Given the description of an element on the screen output the (x, y) to click on. 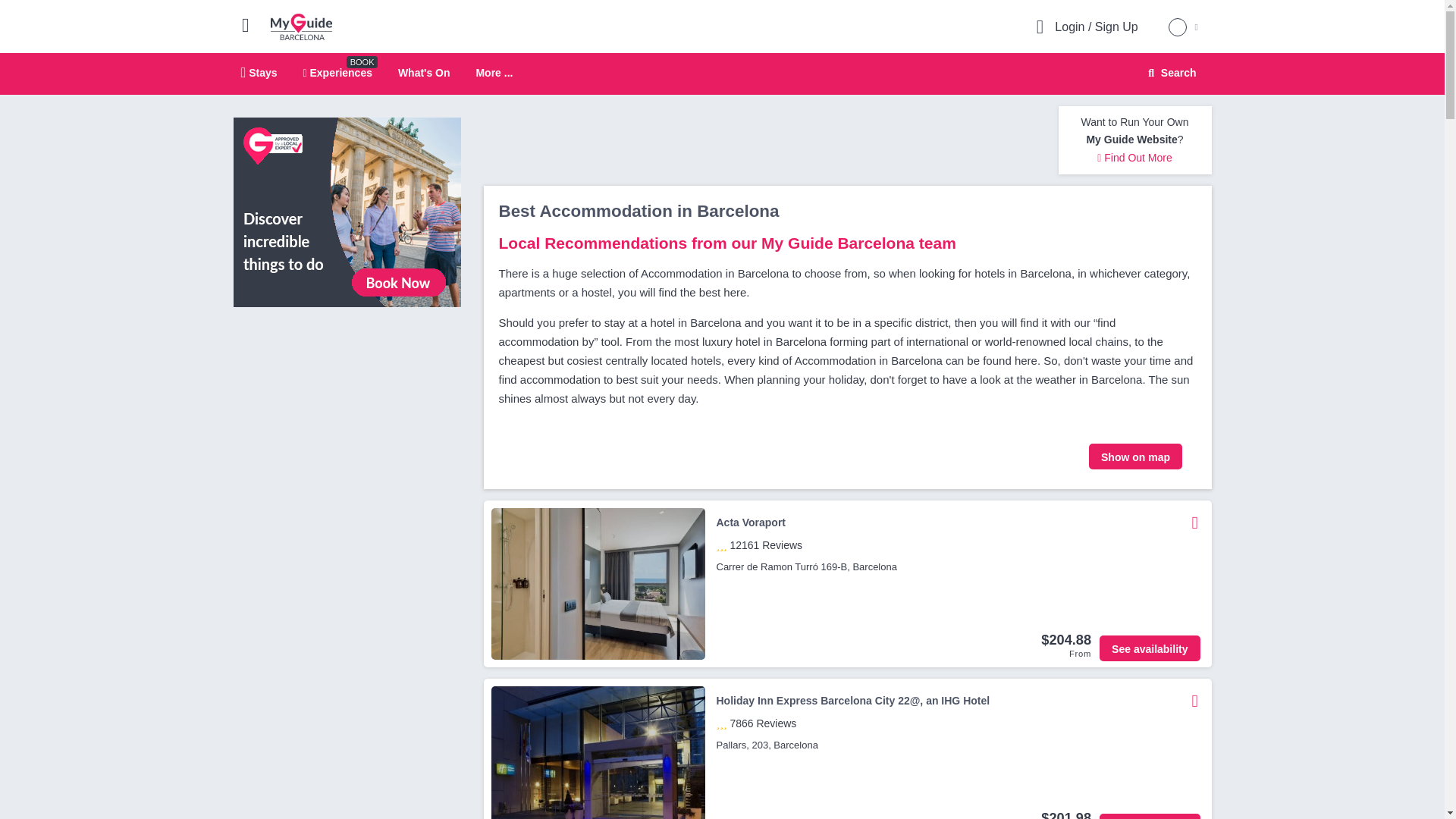
More ... (494, 72)
Search (1169, 72)
Experiences (337, 72)
View All Experiences (721, 74)
Stays (346, 211)
Search Website (259, 72)
What's On (1170, 73)
My Guide Barcelona (423, 72)
Larger Map for Company: Accommodation  (300, 25)
